Given the description of an element on the screen output the (x, y) to click on. 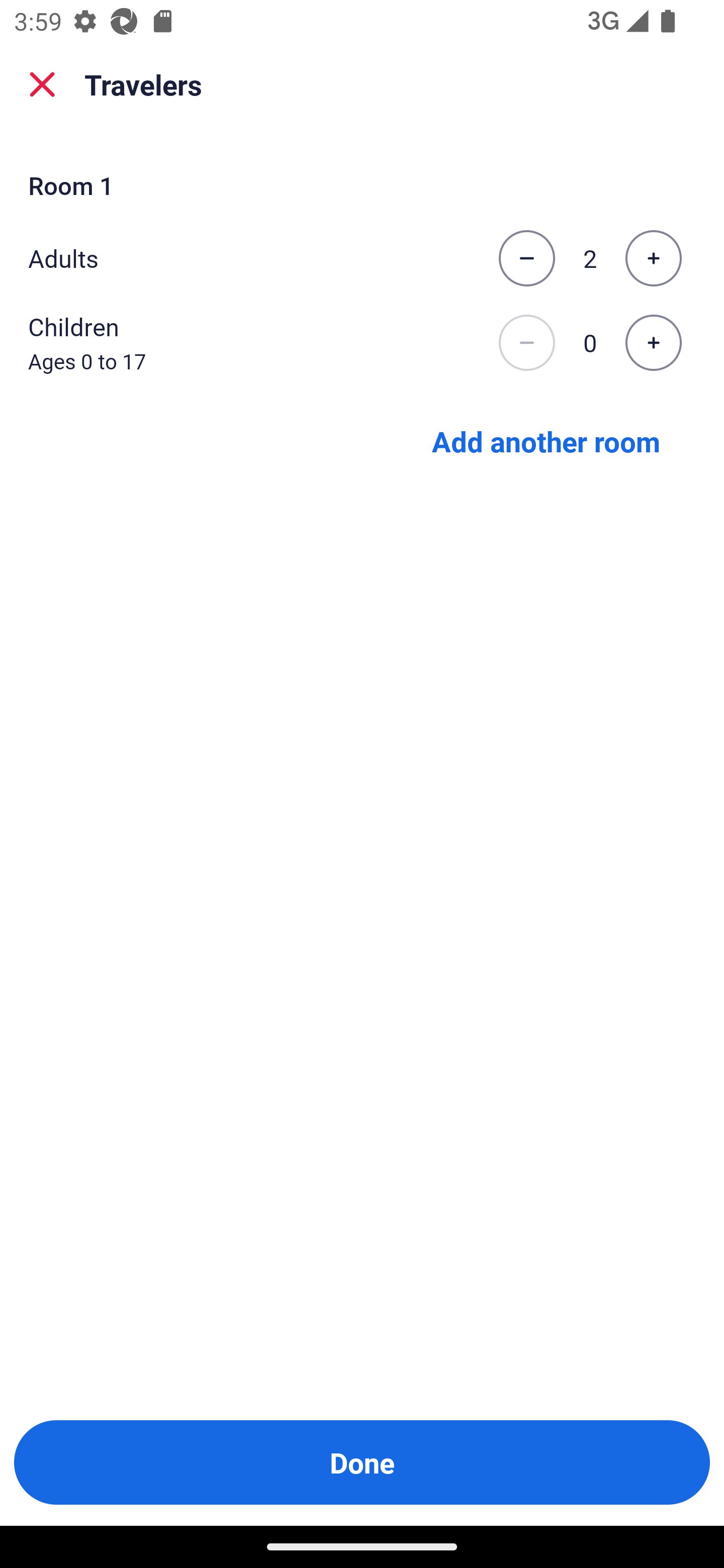
close (42, 84)
Decrease the number of adults (526, 258)
Increase the number of adults (653, 258)
Decrease the number of children (526, 343)
Increase the number of children (653, 343)
Add another room (545, 440)
Done (361, 1462)
